Given the description of an element on the screen output the (x, y) to click on. 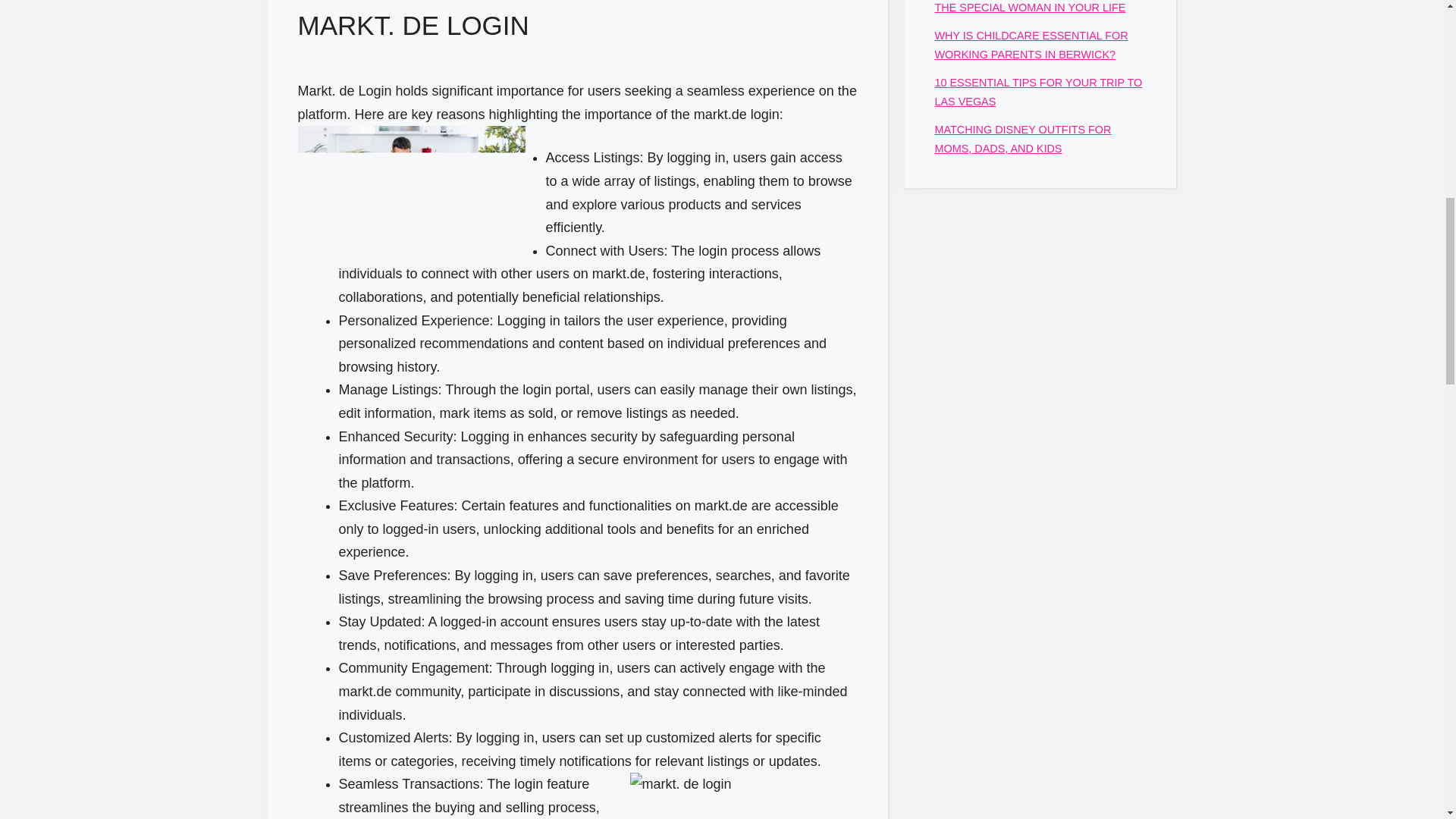
10 ESSENTIAL TIPS FOR YOUR TRIP TO LAS VEGAS (1037, 91)
WHY IS CHILDCARE ESSENTIAL FOR WORKING PARENTS IN BERWICK? (1030, 44)
MATCHING DISNEY OUTFITS FOR MOMS, DADS, AND KIDS (1022, 138)
Scroll back to top (1406, 720)
